Given the description of an element on the screen output the (x, y) to click on. 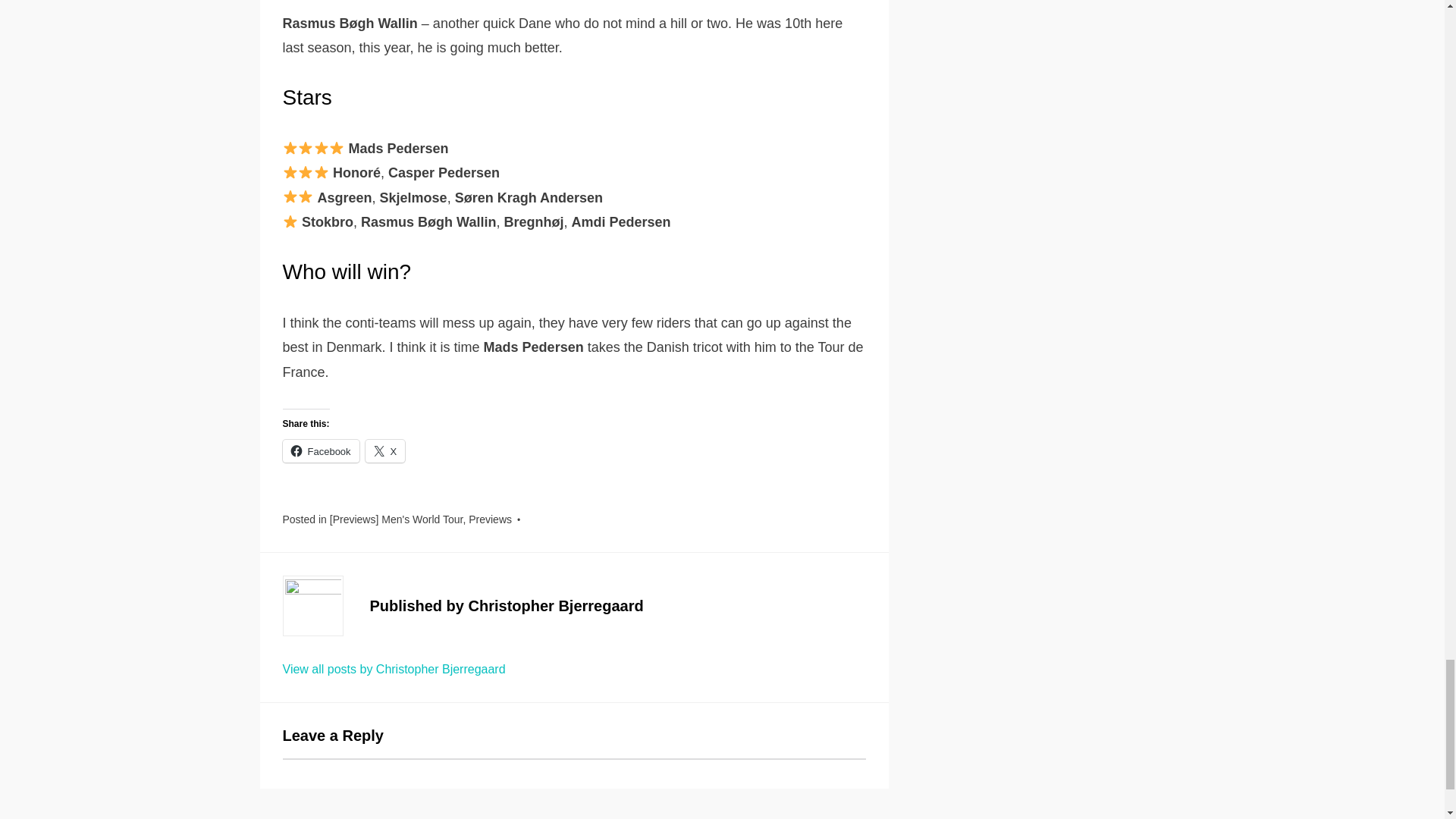
Click to share on Facebook (320, 450)
X (385, 450)
Previews (490, 519)
View all posts by Christopher Bjerregaard (393, 668)
Click to share on X (385, 450)
Facebook (320, 450)
